Given the description of an element on the screen output the (x, y) to click on. 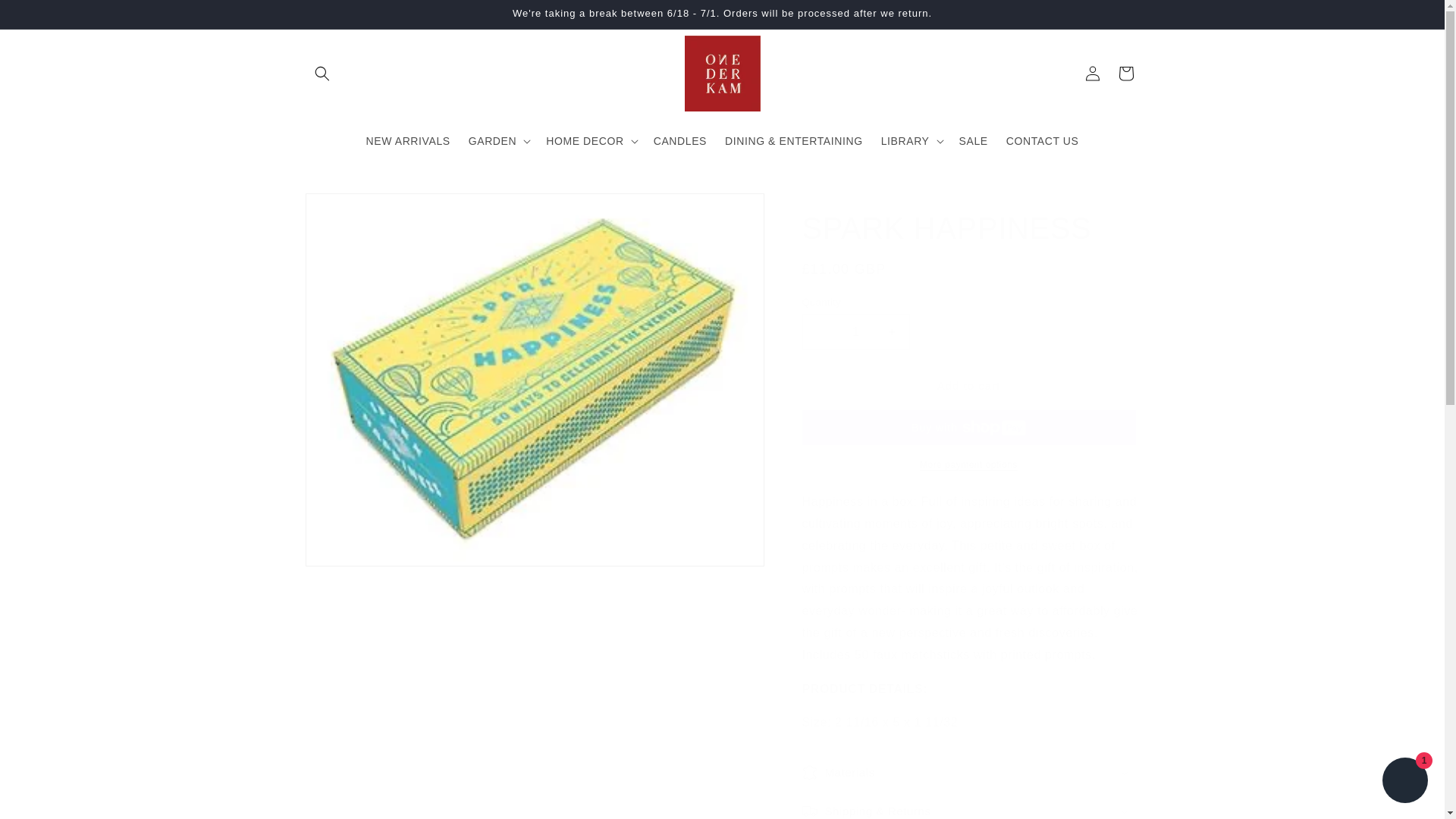
NEW ARRIVALS (408, 140)
Shopify online store chat (1404, 781)
Cart (1124, 72)
Skip to product information (350, 209)
Skip to content (45, 16)
SALE (973, 140)
1 (856, 331)
CANDLES (680, 140)
CONTACT US (1042, 140)
Log in (1091, 72)
